Given the description of an element on the screen output the (x, y) to click on. 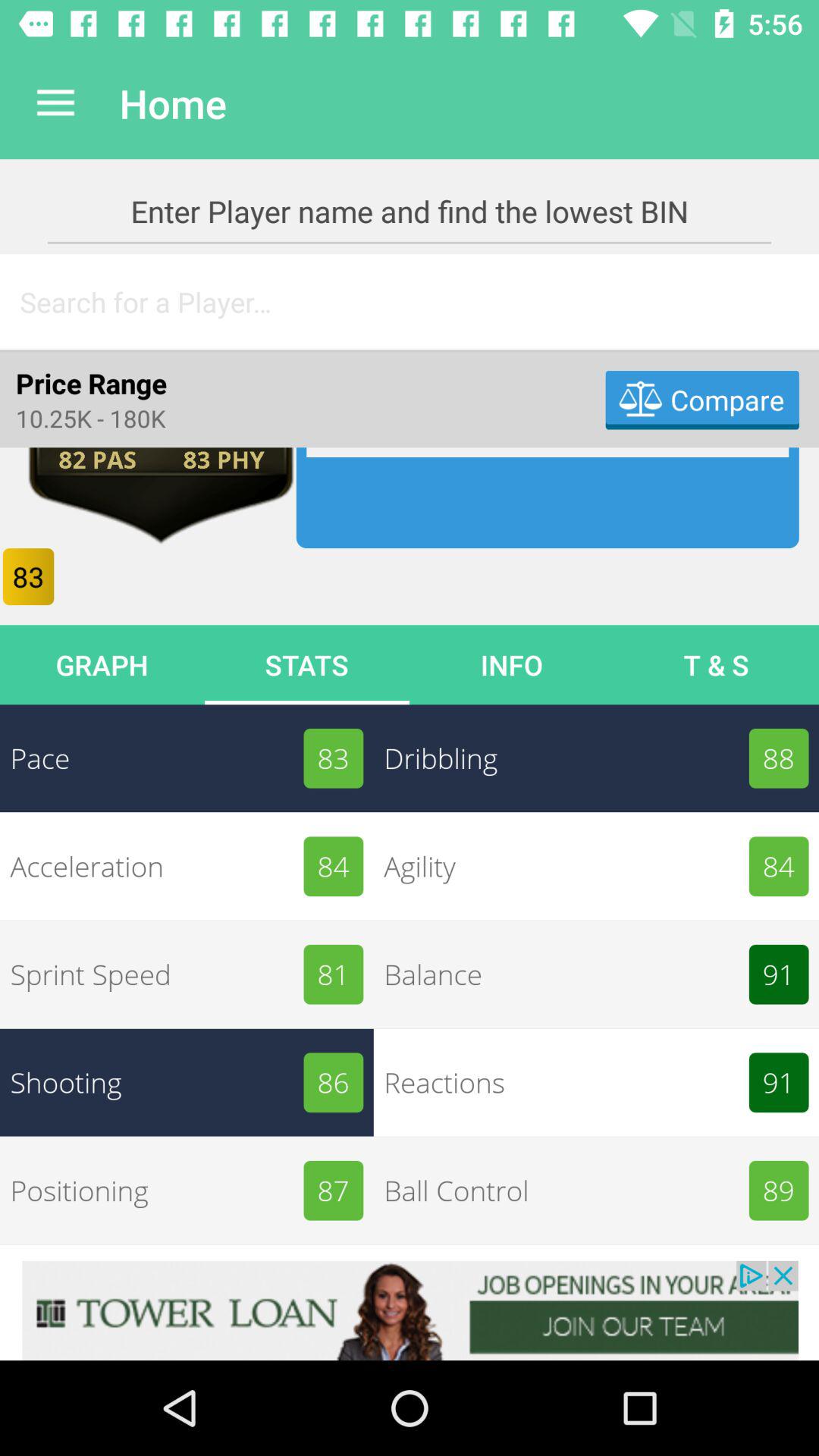
advertisement page (409, 1310)
